Given the description of an element on the screen output the (x, y) to click on. 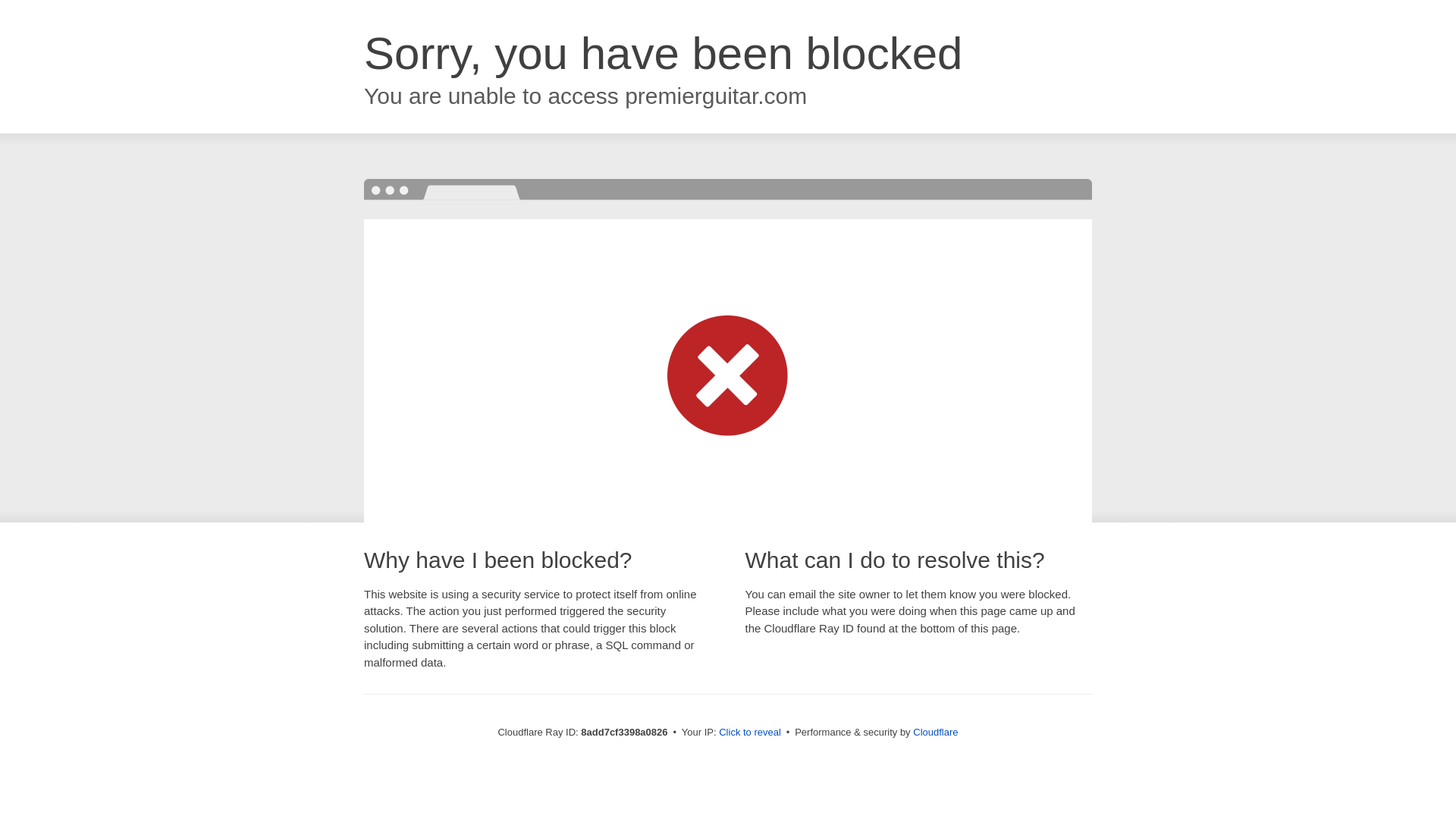
Click to reveal (749, 732)
Cloudflare (935, 731)
